Given the description of an element on the screen output the (x, y) to click on. 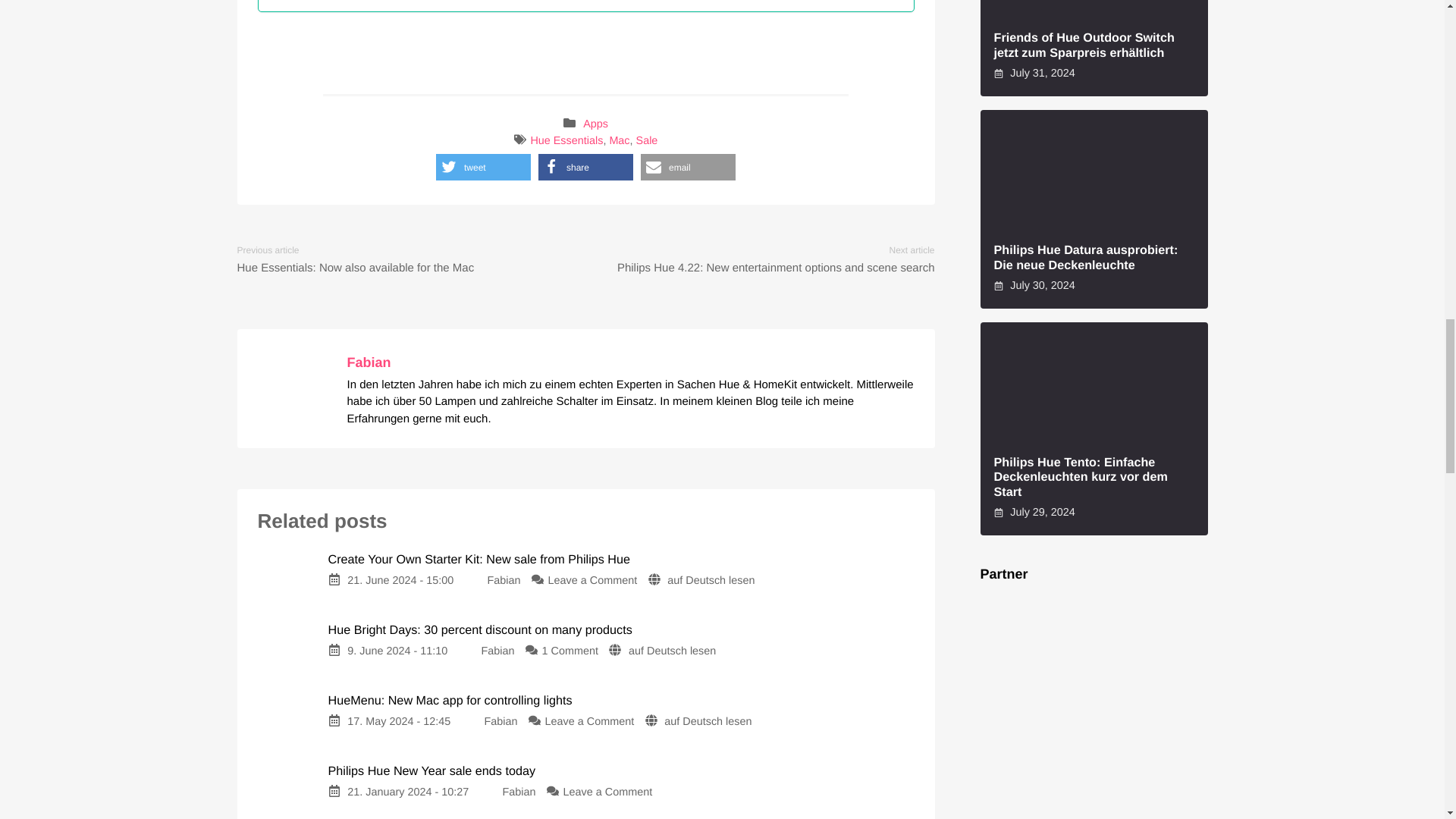
auf Deutsch lesen (672, 651)
Send by email (687, 166)
auf Deutsch lesen (710, 580)
Share on Twitter (483, 166)
Share on Facebook (585, 166)
auf Deutsch lesen (707, 721)
